Given the description of an element on the screen output the (x, y) to click on. 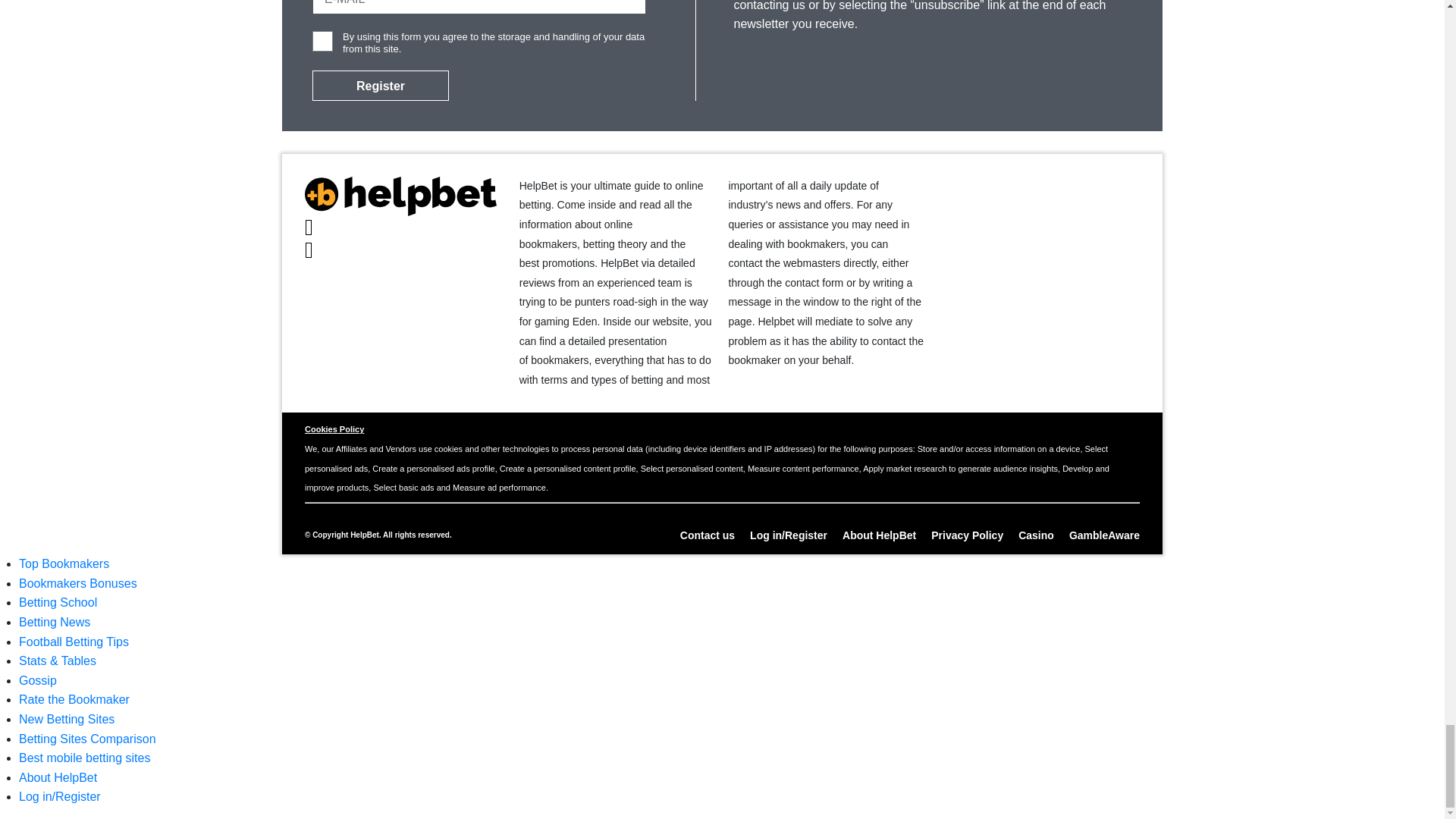
Register (380, 85)
